Given the description of an element on the screen output the (x, y) to click on. 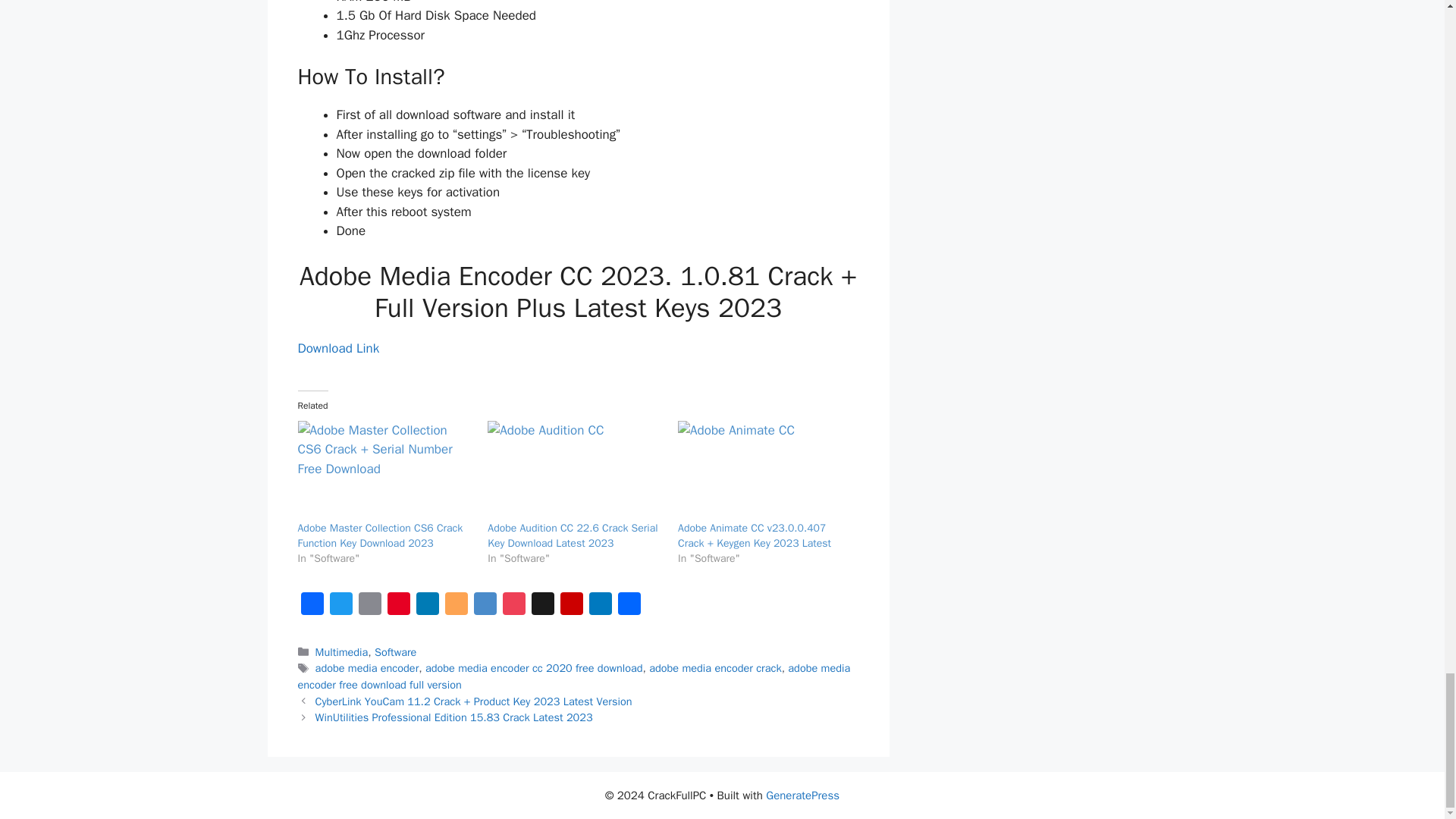
Adobe Audition CC 22.6 Crack Serial Key Download Latest 2023 (572, 535)
Diigo (484, 607)
Pinterest (398, 607)
LinkedIn (426, 607)
Email (369, 607)
Facebook (311, 607)
Adobe Master Collection CS6 Crack Function Key Download 2023 (380, 535)
Email (369, 607)
Pocket (513, 607)
Software (395, 652)
Multimedia (341, 652)
Facebook (311, 607)
Twitter (340, 607)
Pinterest (398, 607)
adobe media encoder (367, 667)
